Given the description of an element on the screen output the (x, y) to click on. 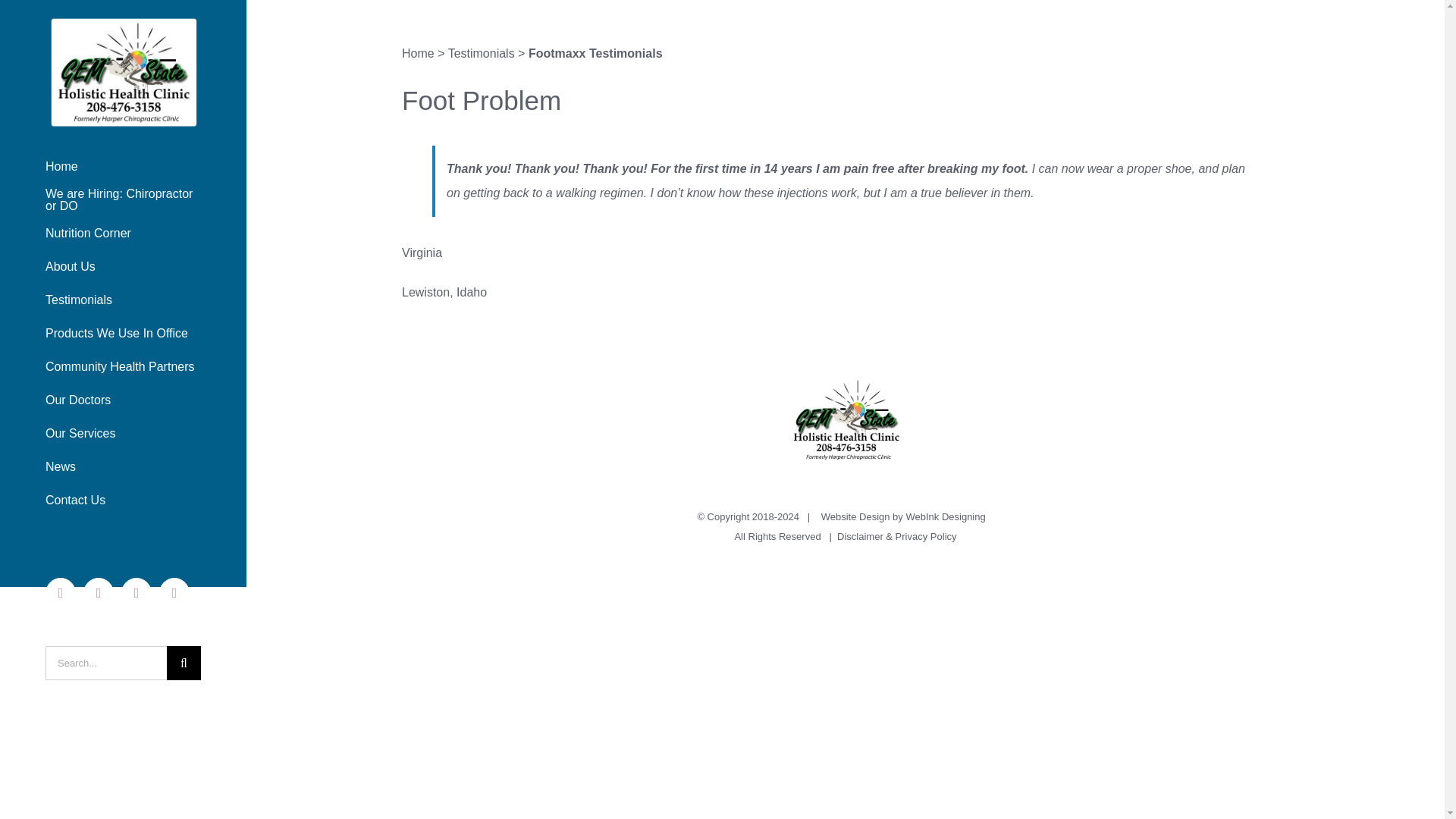
Our Services (123, 433)
Our Doctors (123, 400)
Testimonials (123, 299)
About Us (123, 266)
Home (123, 166)
Products We Use In Office (123, 333)
News (123, 467)
Nutrition Corner (123, 233)
We are Hiring: Chiropractor or DO (123, 200)
Community Health Partners (123, 367)
